Given the description of an element on the screen output the (x, y) to click on. 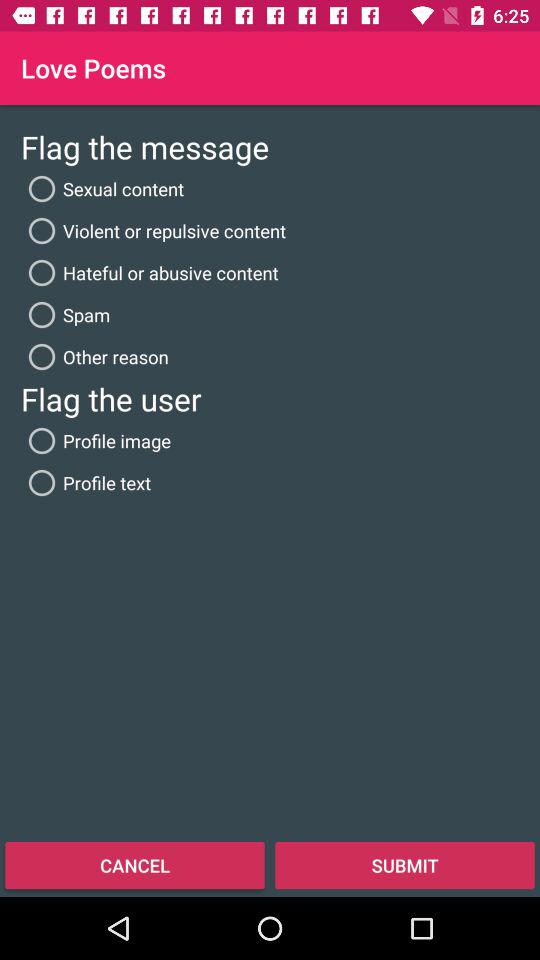
tap the sexual content icon (102, 188)
